Given the description of an element on the screen output the (x, y) to click on. 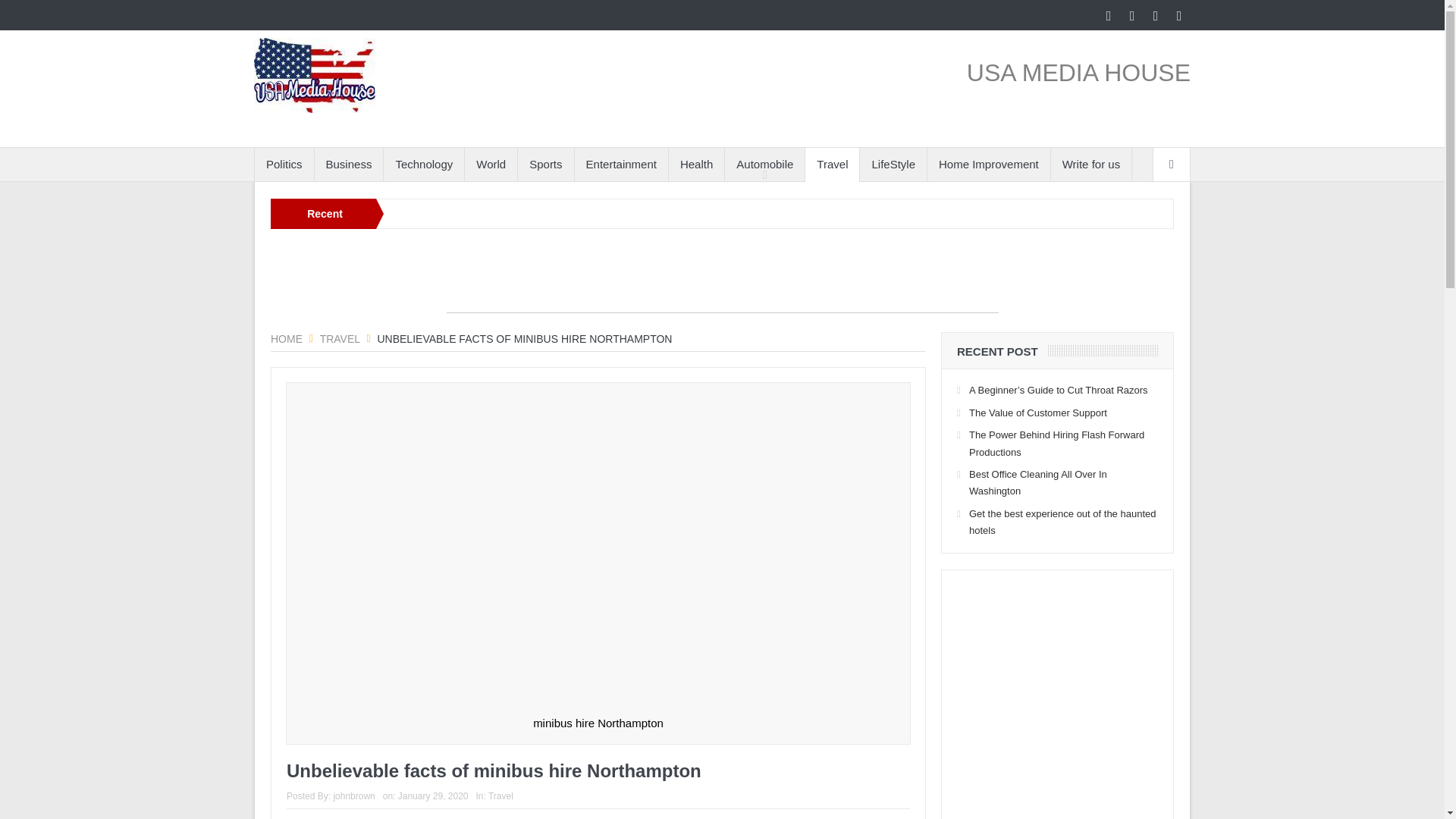
Advertisement (1070, 702)
Write for us (1091, 164)
World (490, 164)
Sports (545, 164)
View all posts in Travel (500, 796)
Advertisement (721, 278)
Business (349, 164)
Travel (832, 164)
Entertainment (621, 164)
Technology (424, 164)
Home Improvement (988, 164)
Health (695, 164)
Automobile (765, 164)
LifeStyle (893, 164)
Travel (339, 338)
